Given the description of an element on the screen output the (x, y) to click on. 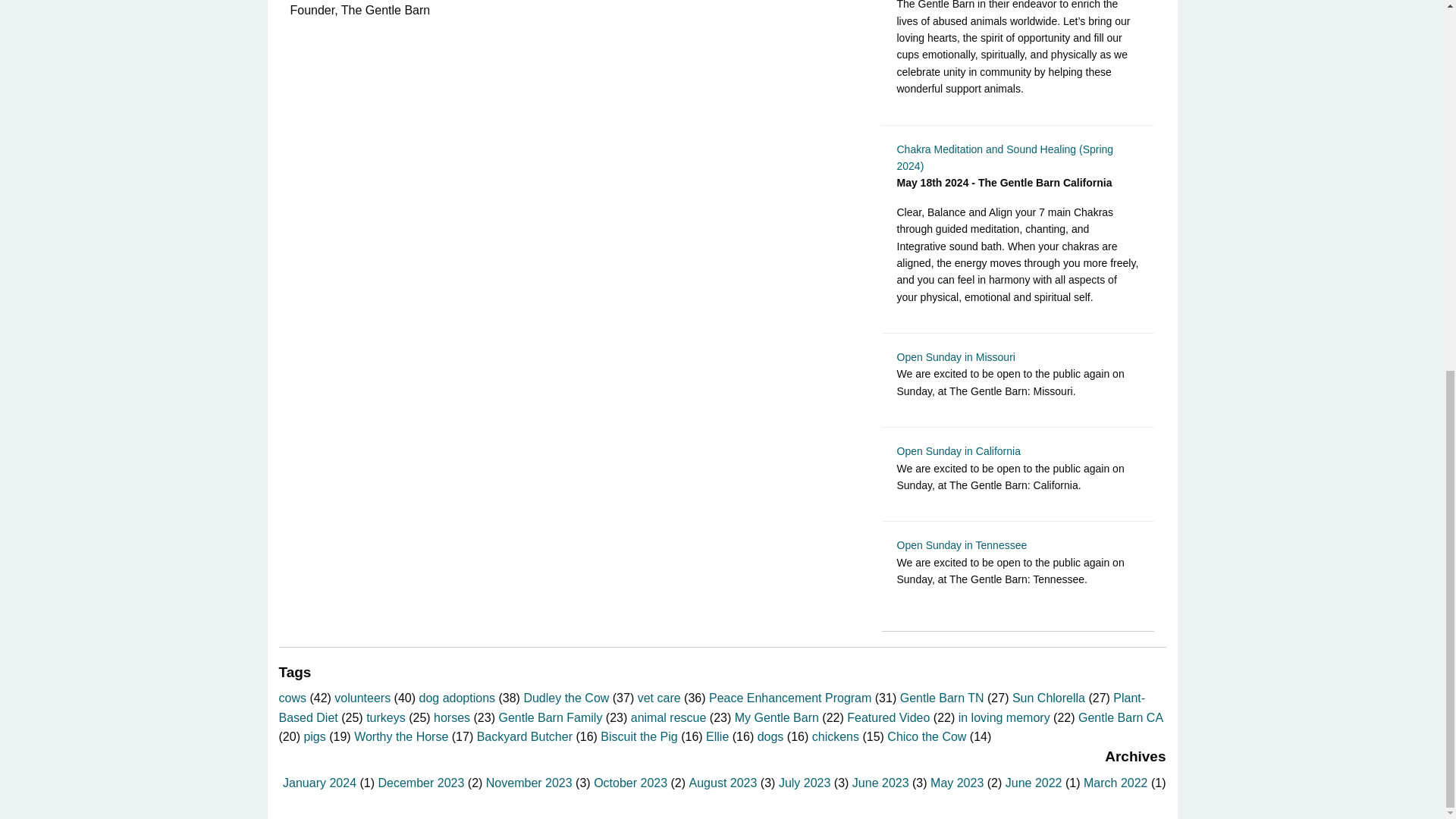
November 2023 (529, 782)
June 2022 (1034, 782)
June 2023 (879, 782)
July 2023 (804, 782)
December 2023 (420, 782)
October 2023 (630, 782)
Open Sunday in Missouri (955, 357)
May 2023 (957, 782)
August 2023 (722, 782)
January 2024 (319, 782)
Open Sunday in California (958, 451)
Open Sunday in Tennessee (961, 544)
March 2022 (1115, 782)
